Given the description of an element on the screen output the (x, y) to click on. 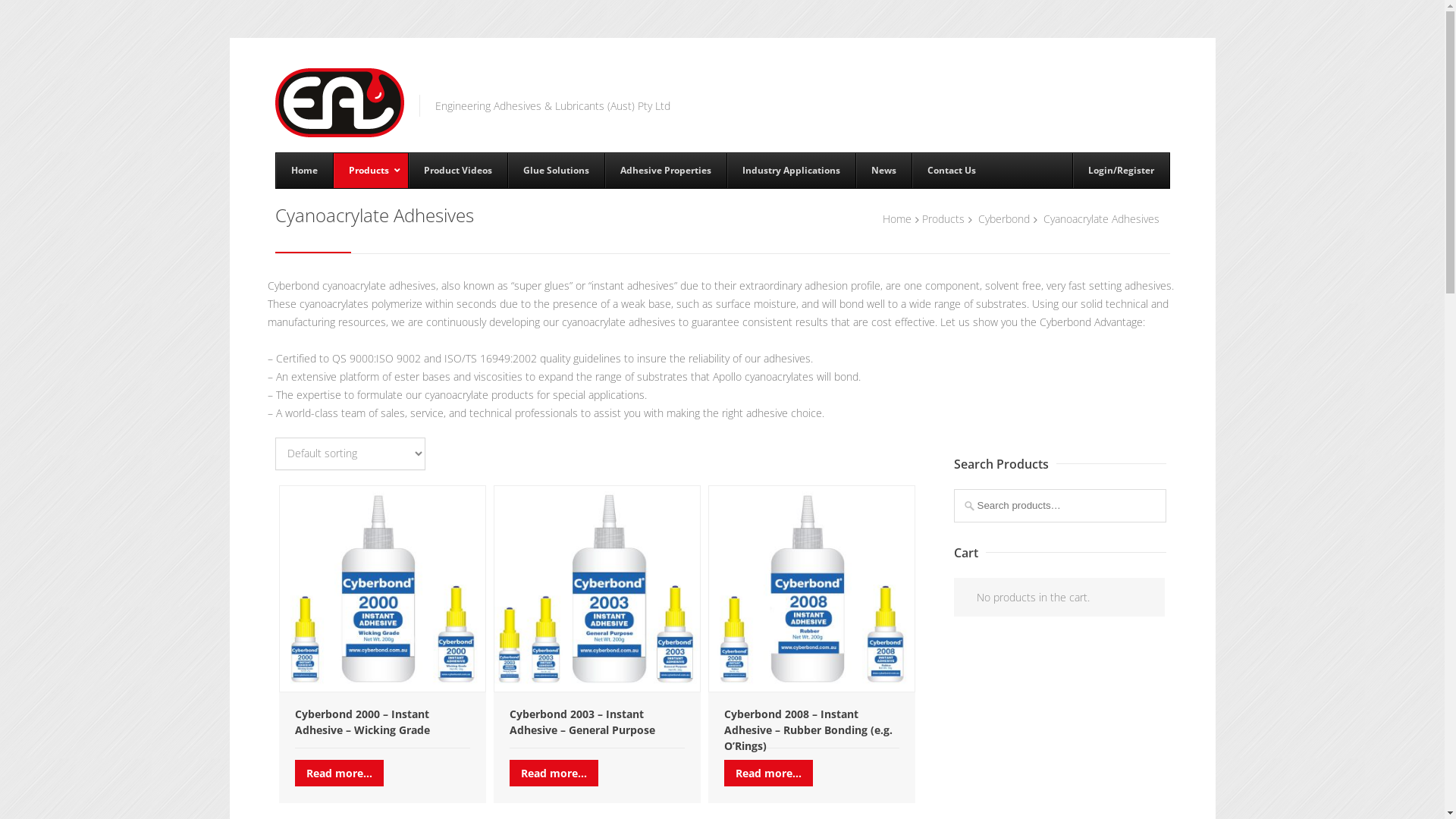
Home Element type: text (304, 170)
Product Videos Element type: text (457, 170)
Home Element type: text (896, 218)
Glue Solutions Element type: text (554, 170)
Contact Us Element type: text (951, 170)
News Element type: text (883, 170)
Products Element type: text (369, 170)
Read more... Element type: text (338, 772)
Read more... Element type: text (553, 772)
Cyberbond Element type: text (1003, 218)
Read more... Element type: text (767, 772)
Login/Register Element type: text (1120, 170)
Industry Applications Element type: text (790, 170)
Adhesive Properties Element type: text (664, 170)
Products Element type: text (943, 218)
